Given the description of an element on the screen output the (x, y) to click on. 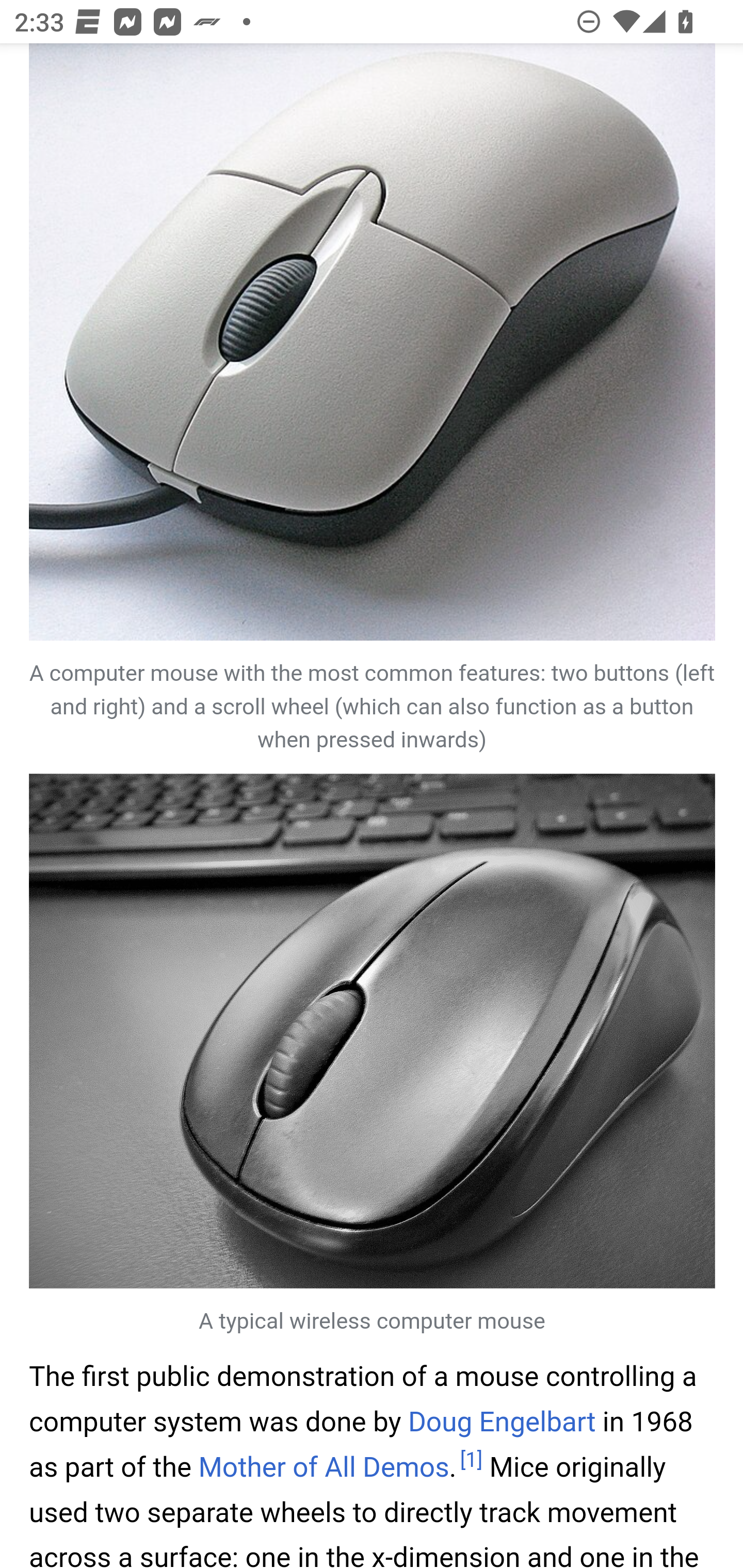
640px-3-Tasten-Maus_Microsoft (372, 342)
Doug Engelbart (500, 1420)
[] [ 1 ] (470, 1459)
Mother of All Demos (322, 1465)
